Given the description of an element on the screen output the (x, y) to click on. 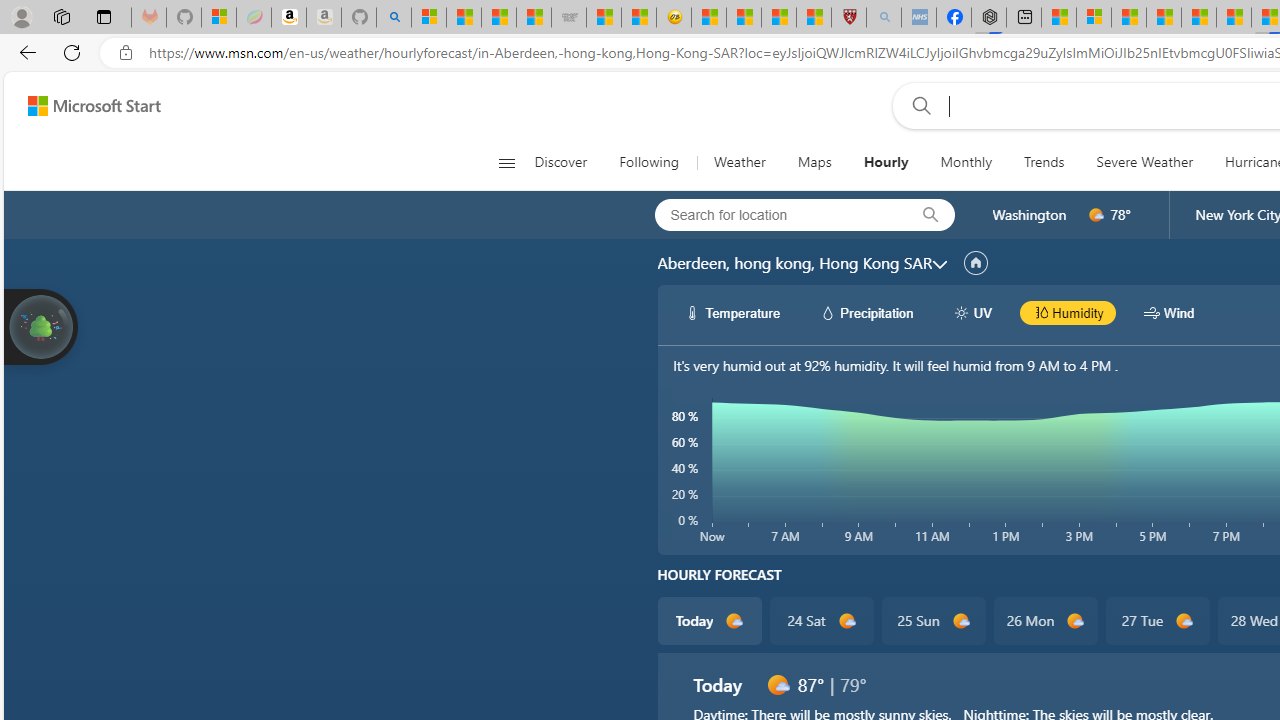
hourlyChart/windWhite (1152, 312)
hourlyChart/humidityBlack Humidity (1068, 312)
Severe Weather (1144, 162)
hourlyChart/precipitationWhite Precipitation (866, 312)
Robert H. Shmerling, MD - Harvard Health (849, 17)
